Given the description of an element on the screen output the (x, y) to click on. 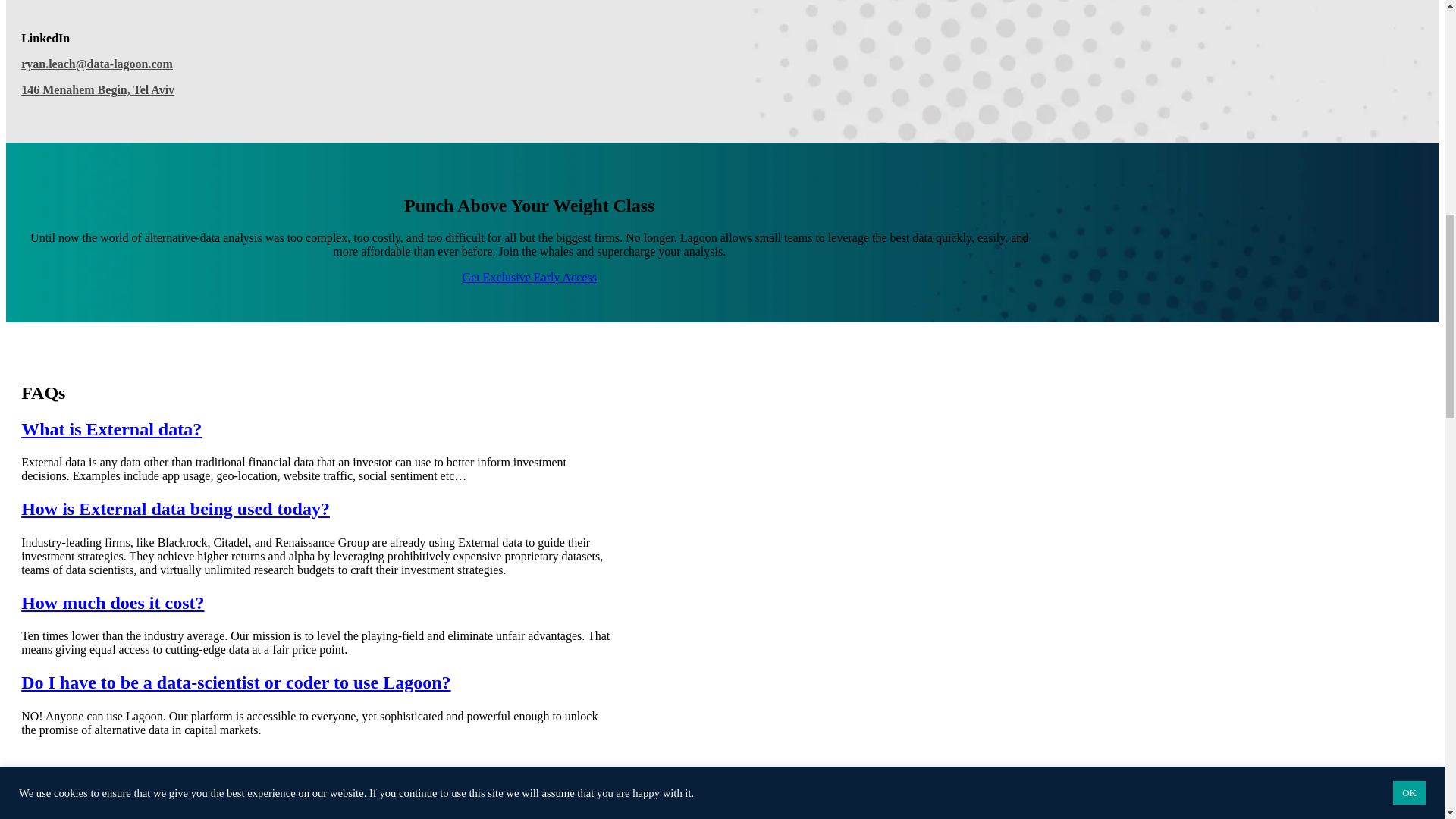
Do I have to be a data-scientist or coder to use Lagoon? (235, 682)
How much does it cost? (112, 602)
Get Exclusive Early Access (529, 277)
How is External data being used today? (175, 508)
What is External data? (111, 428)
146 Menahem Begin, Tel Aviv (97, 89)
FAQ-image copy-min (404, 796)
